Given the description of an element on the screen output the (x, y) to click on. 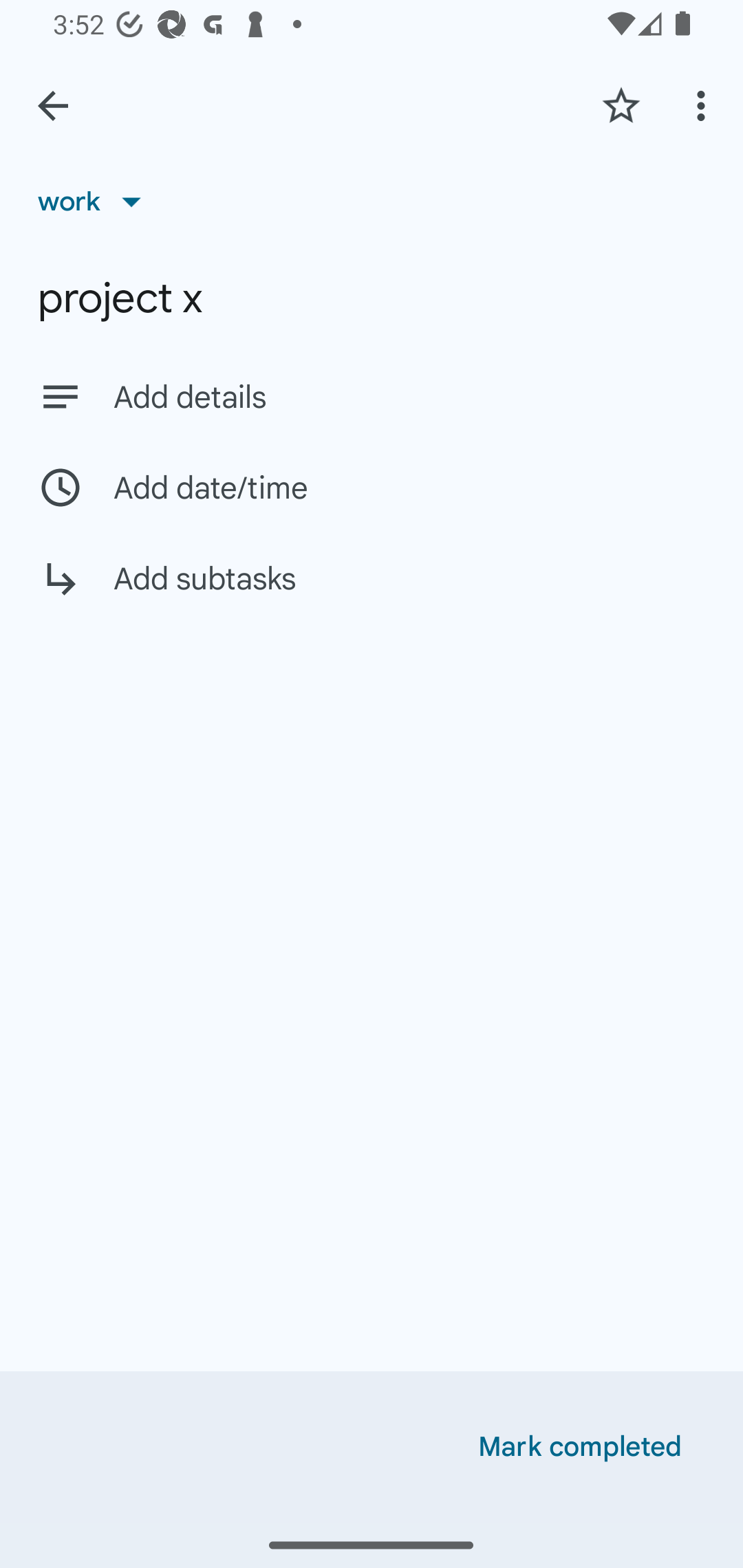
Back (53, 105)
Add star (620, 105)
More options (704, 105)
work List, work selected, 1 of 11 (95, 201)
project x (371, 298)
Add details (371, 396)
Add details (409, 397)
Add date/time (371, 487)
Add subtasks (371, 593)
Mark completed (580, 1446)
